Given the description of an element on the screen output the (x, y) to click on. 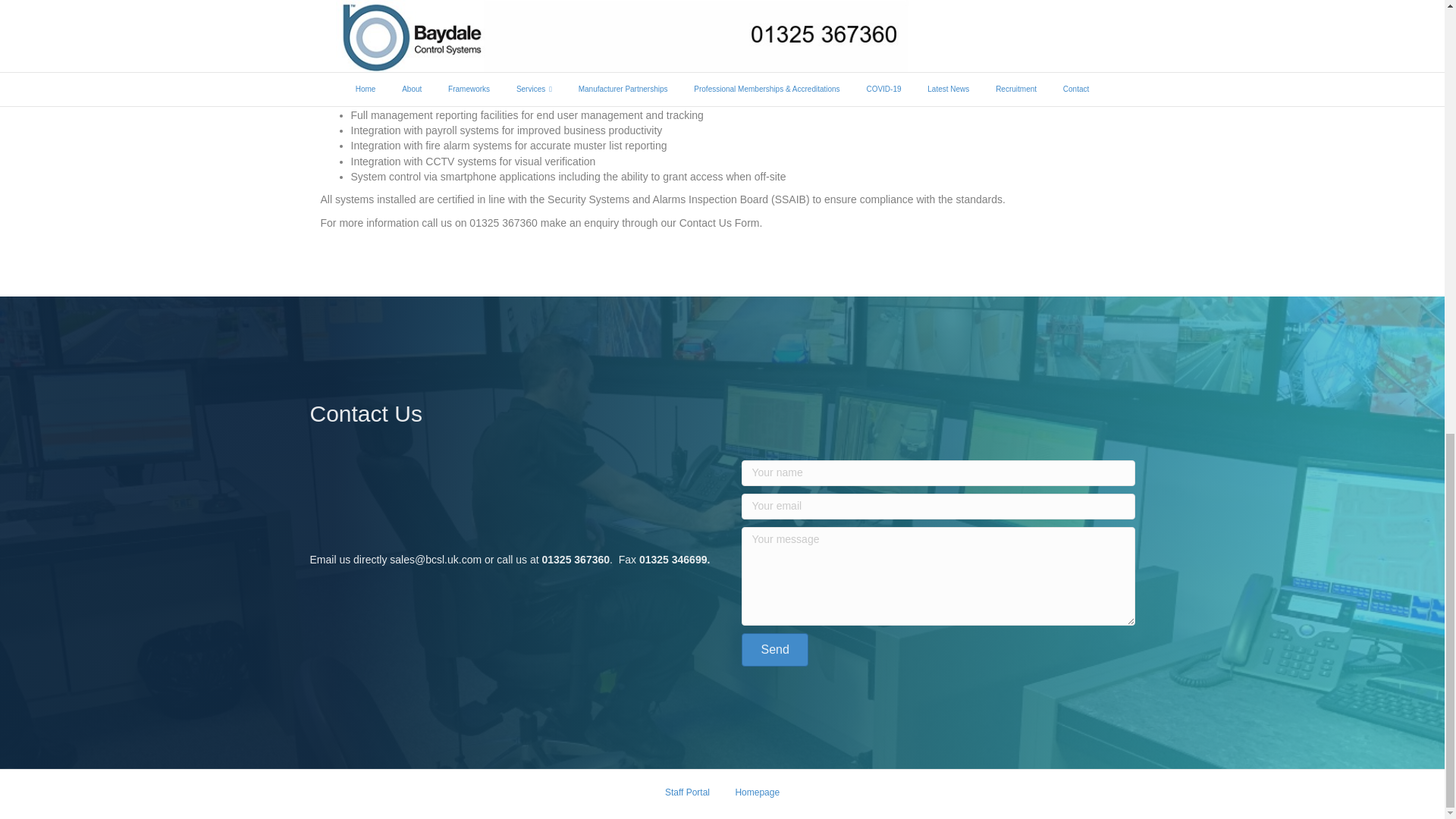
Send (774, 649)
Staff Portal (686, 797)
Homepage (756, 797)
